Given the description of an element on the screen output the (x, y) to click on. 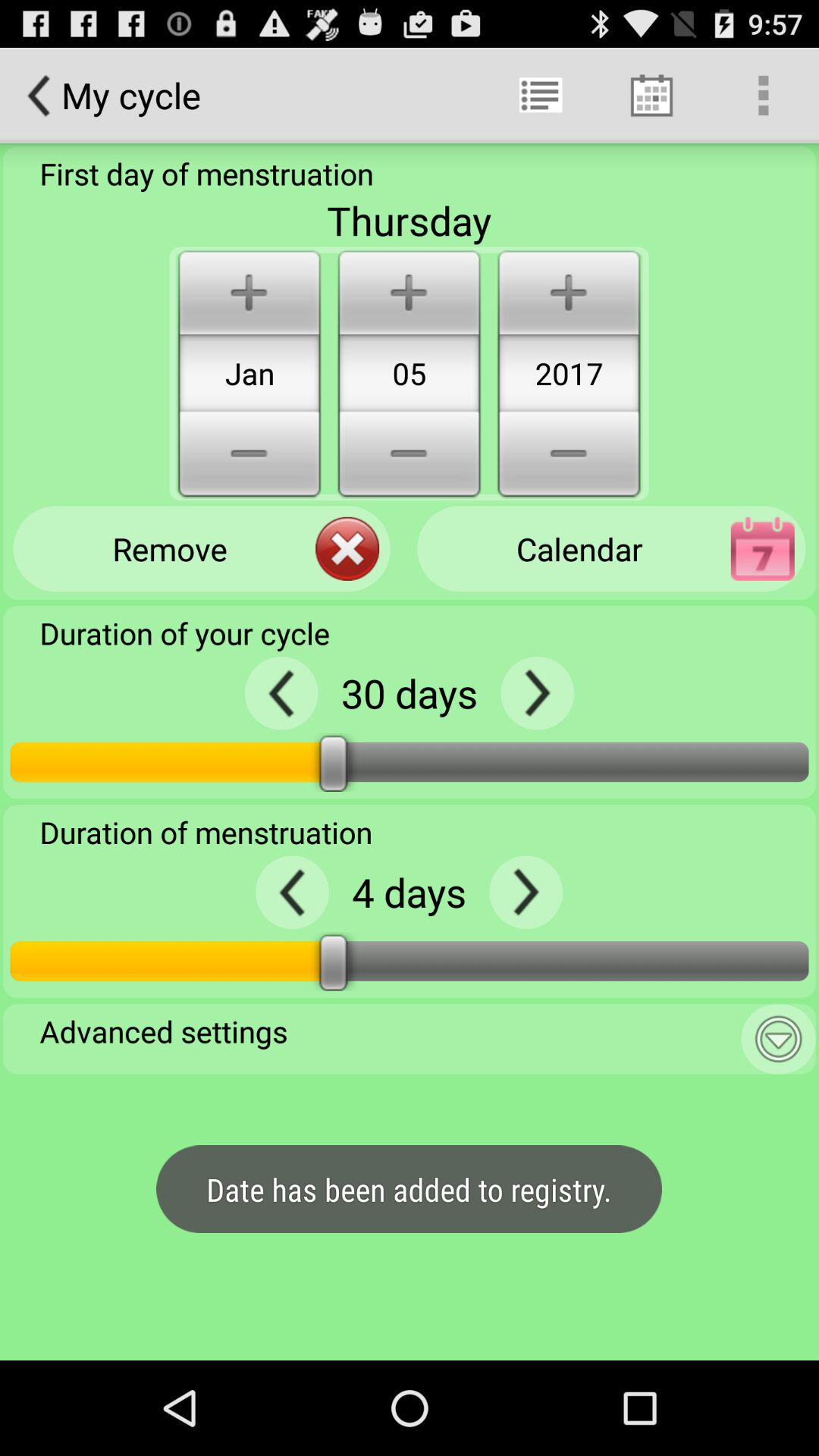
increase the number of days (525, 892)
